Given the description of an element on the screen output the (x, y) to click on. 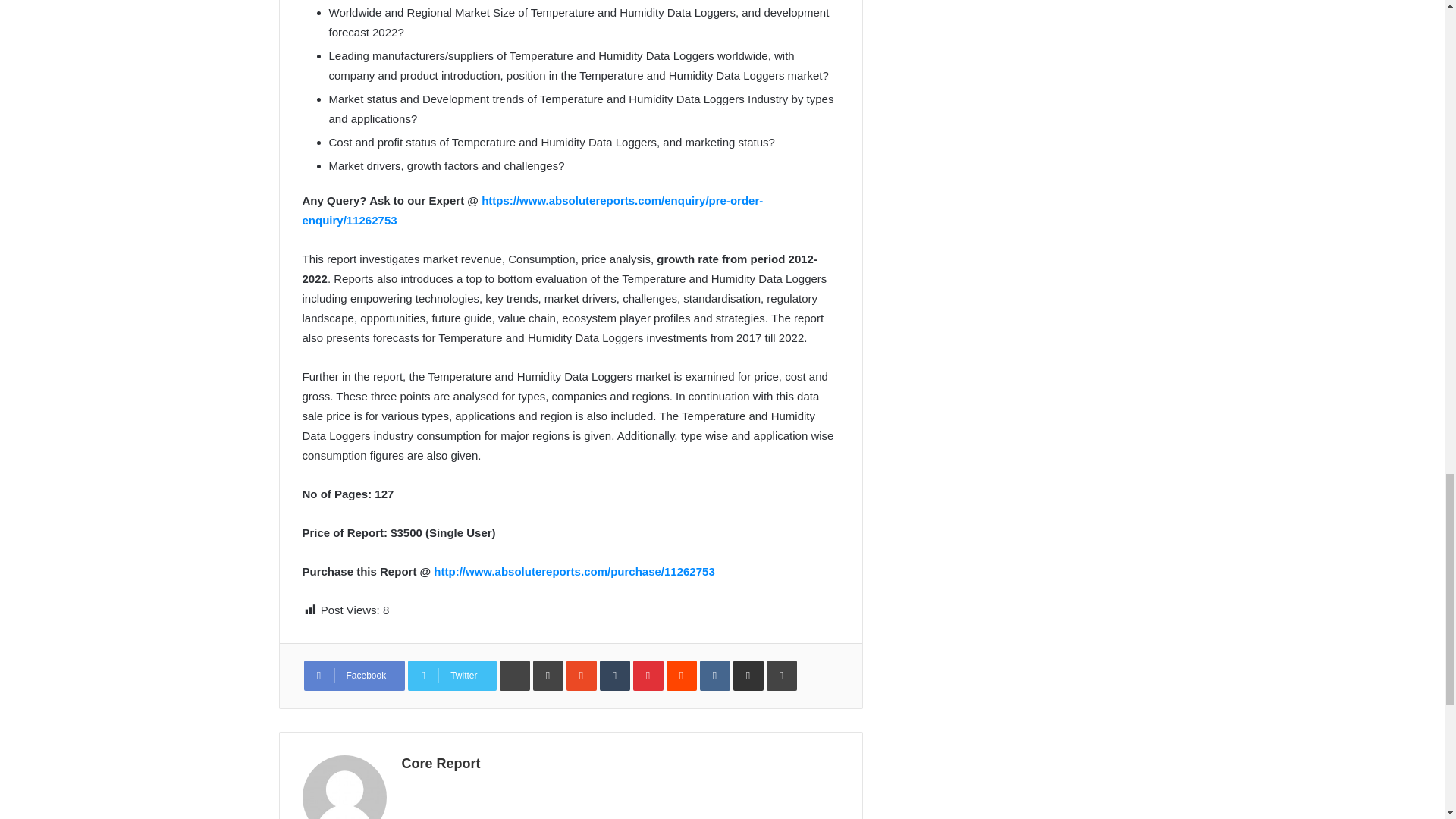
VKontakte (715, 675)
Tumblr (614, 675)
Print (781, 675)
Share via Email (747, 675)
Twitter (451, 675)
Reddit (681, 675)
Facebook (353, 675)
StumbleUpon (581, 675)
LinkedIn (547, 675)
Pinterest (648, 675)
Core Report (440, 763)
